Given the description of an element on the screen output the (x, y) to click on. 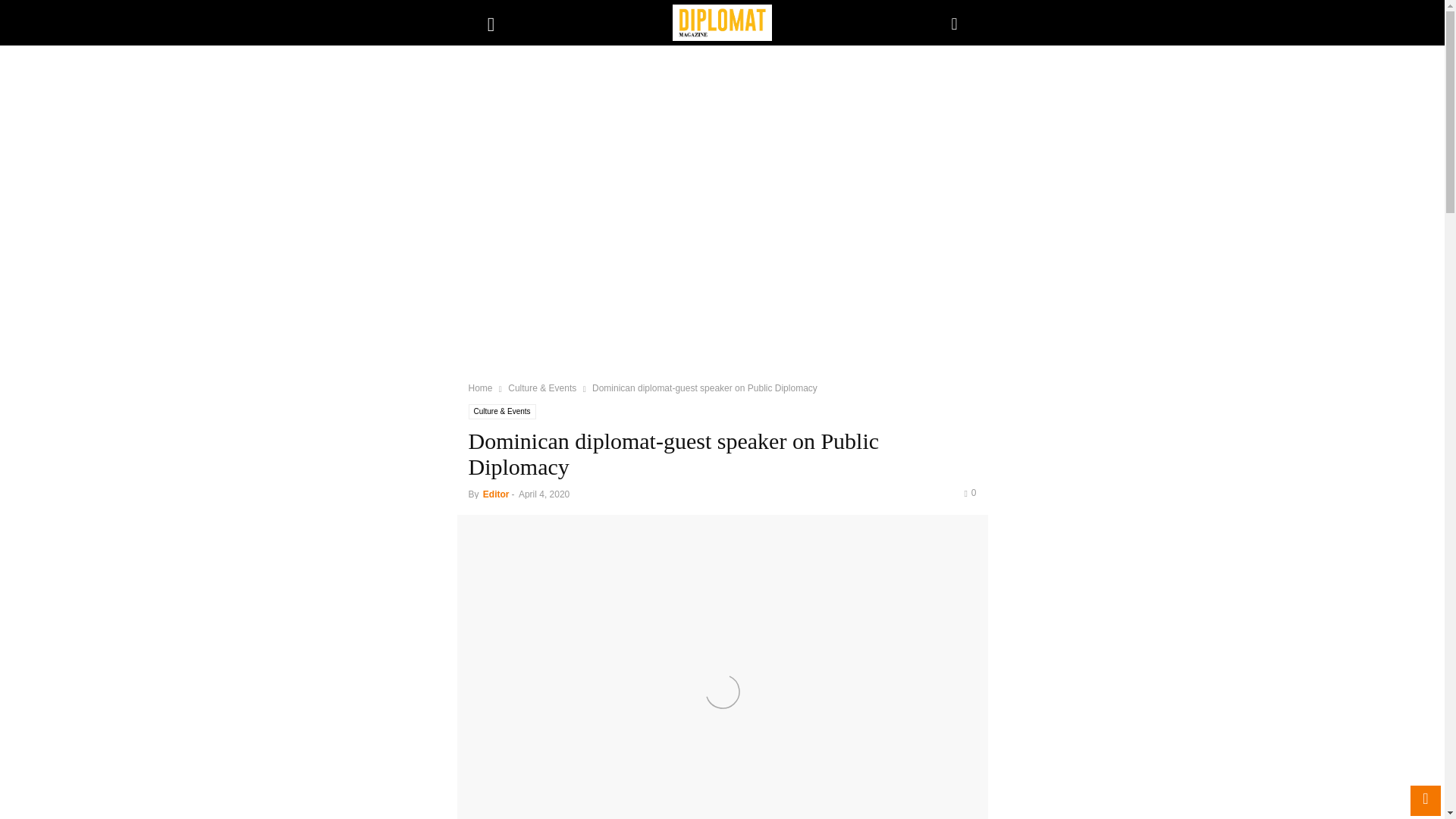
Home (480, 388)
Diplomat Magazine (722, 22)
Diplomat Magazine (721, 22)
0 (969, 492)
Editor (496, 493)
